Given the description of an element on the screen output the (x, y) to click on. 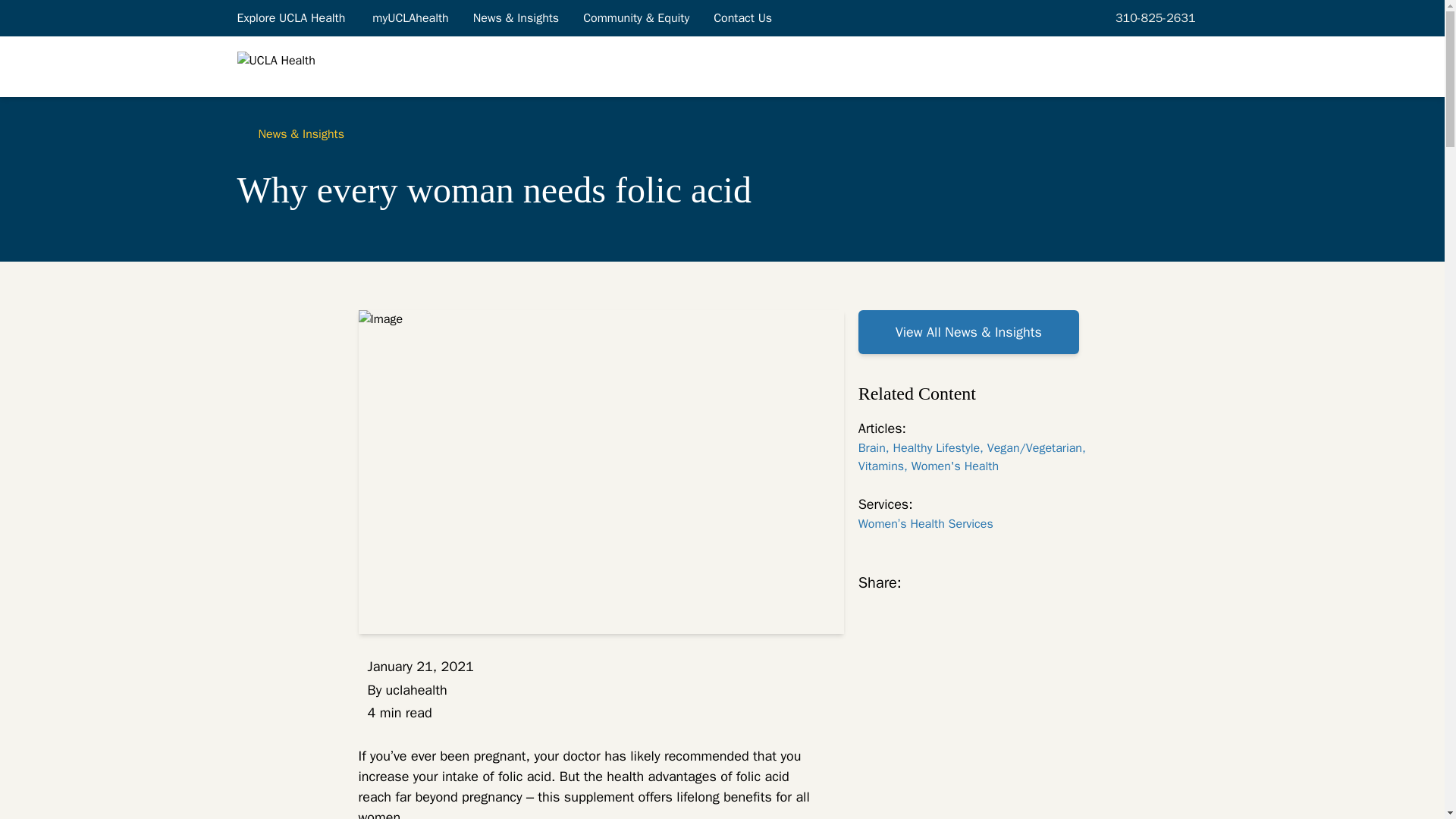
Explore UCLA Health (291, 17)
310-825-2631 (1152, 17)
myUCLAhealth (409, 17)
Contact Us (742, 17)
myUCLAhealth Login. (409, 17)
